Given the description of an element on the screen output the (x, y) to click on. 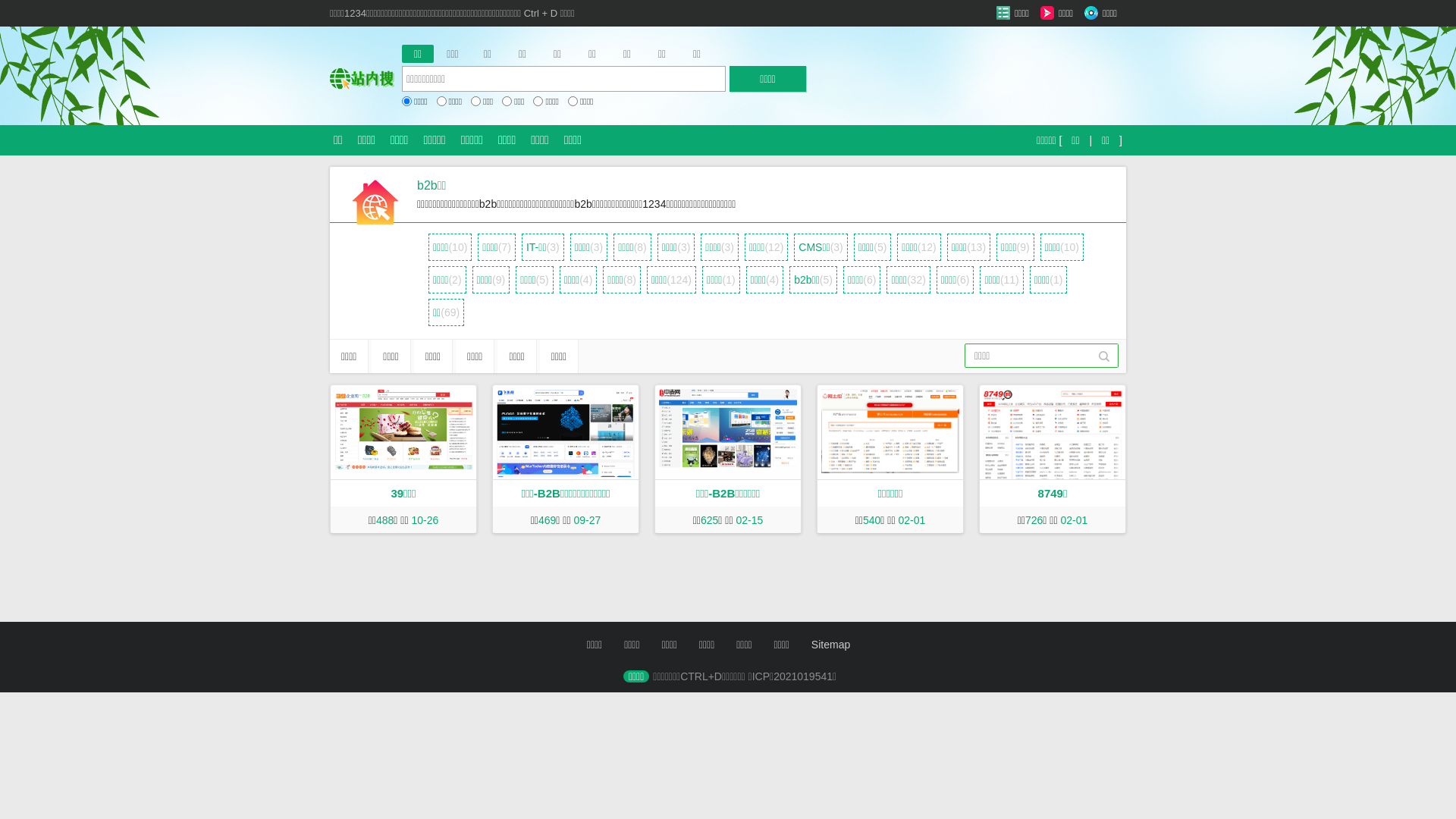
on Element type: text (475, 101)
on Element type: text (506, 101)
on Element type: text (572, 101)
Sitemap Element type: text (830, 644)
on Element type: text (537, 101)
on Element type: text (441, 101)
on Element type: text (406, 101)
